Given the description of an element on the screen output the (x, y) to click on. 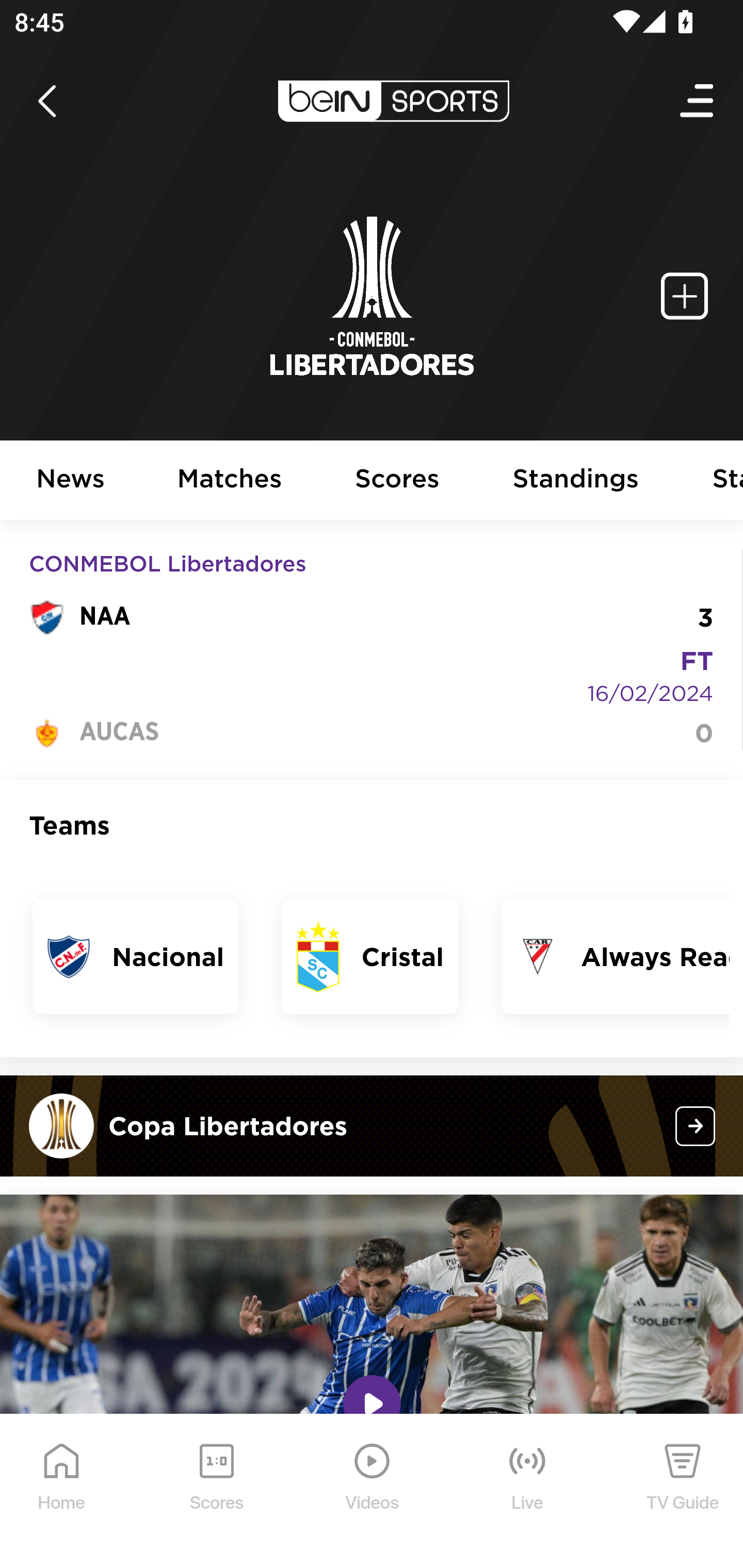
en-us?platform=mobile_android bein logo white (392, 101)
icon back (46, 101)
Open Menu Icon (697, 101)
News (70, 480)
Matches (229, 480)
Scores (397, 480)
Standings (575, 480)
Nacional Nacional Nacional (135, 956)
Cristal Cristal Cristal (370, 956)
Always Ready Always Ready Always Ready (615, 956)
conmebol-libertadores?platform=mobile_android (695, 1125)
Home Home Icon Home (61, 1491)
Scores Scores Icon Scores (216, 1491)
Videos Videos Icon Videos (372, 1491)
TV Guide TV Guide Icon TV Guide (682, 1491)
